Given the description of an element on the screen output the (x, y) to click on. 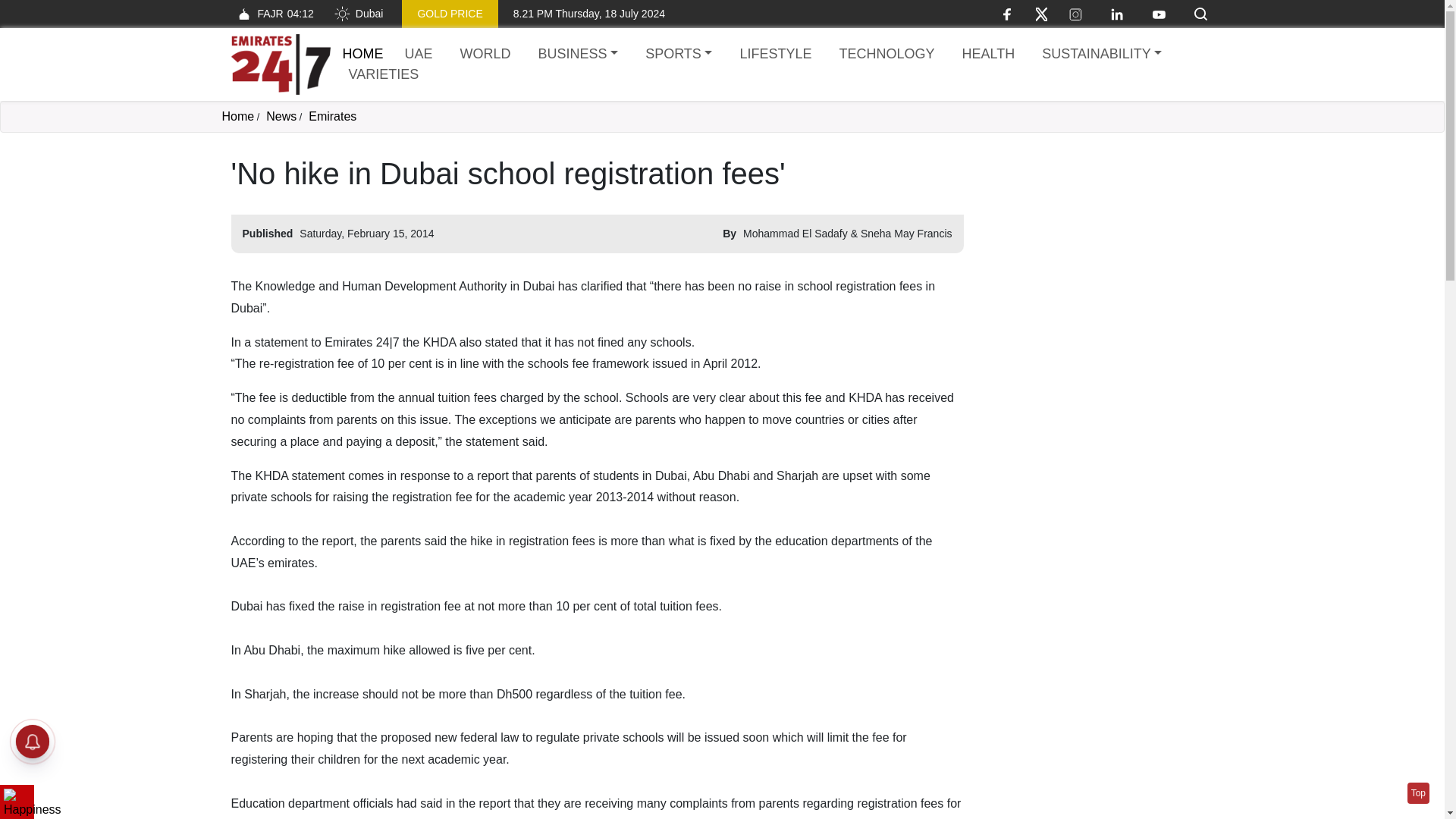
VARIETIES (383, 74)
TECHNOLOGY (886, 54)
HEALTH (987, 54)
LIFESTYLE (774, 54)
News (281, 115)
WORLD (485, 54)
HOME (363, 53)
3rd party ad content (1097, 249)
Emirates (332, 115)
Home (280, 64)
BUSINESS (578, 54)
SPORTS (678, 54)
Home (363, 53)
UAE (418, 54)
SUSTAINABILITY (1101, 54)
